Given the description of an element on the screen output the (x, y) to click on. 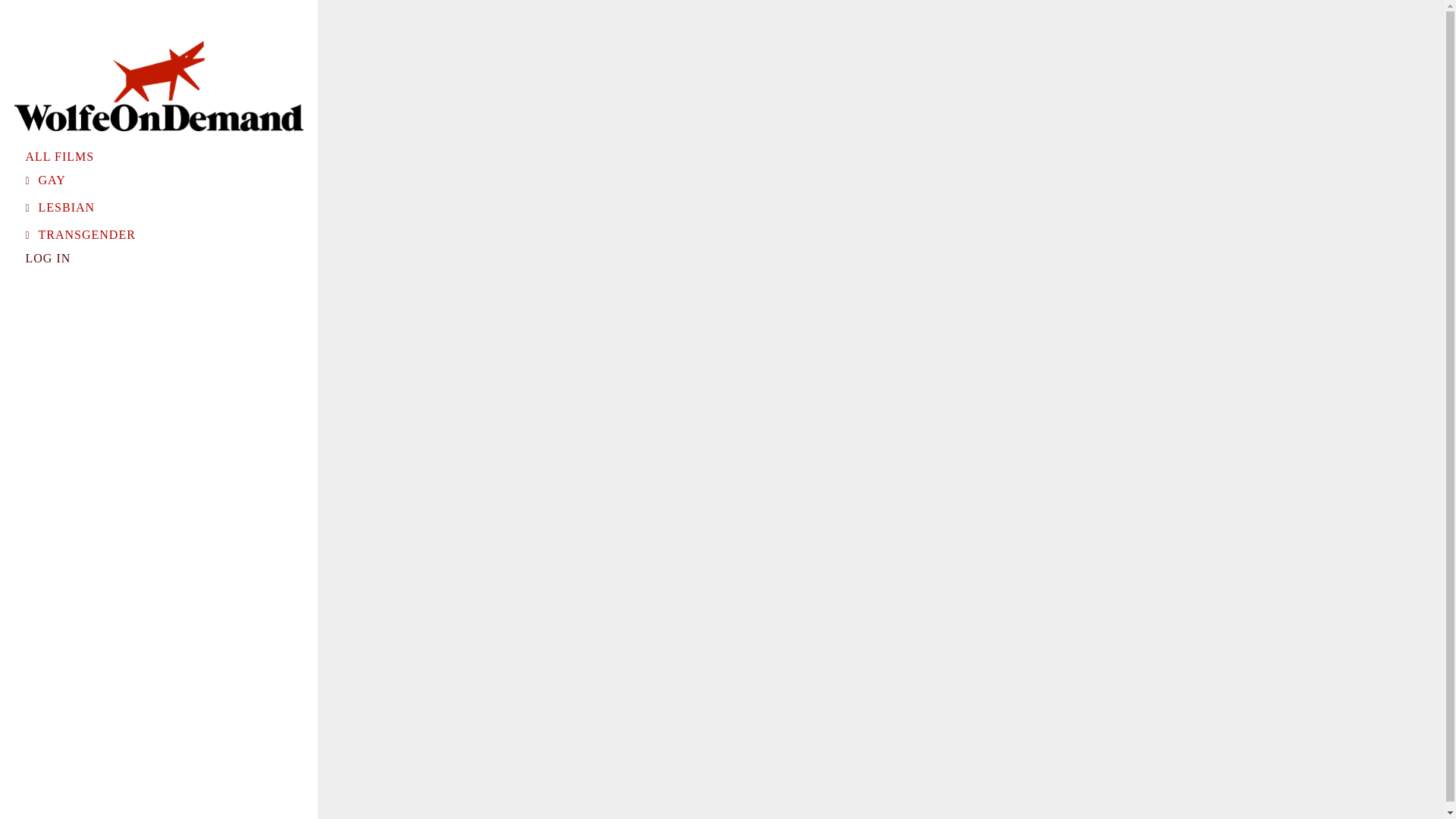
LESBIAN (67, 207)
LOG IN (48, 258)
GAY (52, 180)
ALL FILMS (60, 156)
TRANSGENDER (87, 234)
